Given the description of an element on the screen output the (x, y) to click on. 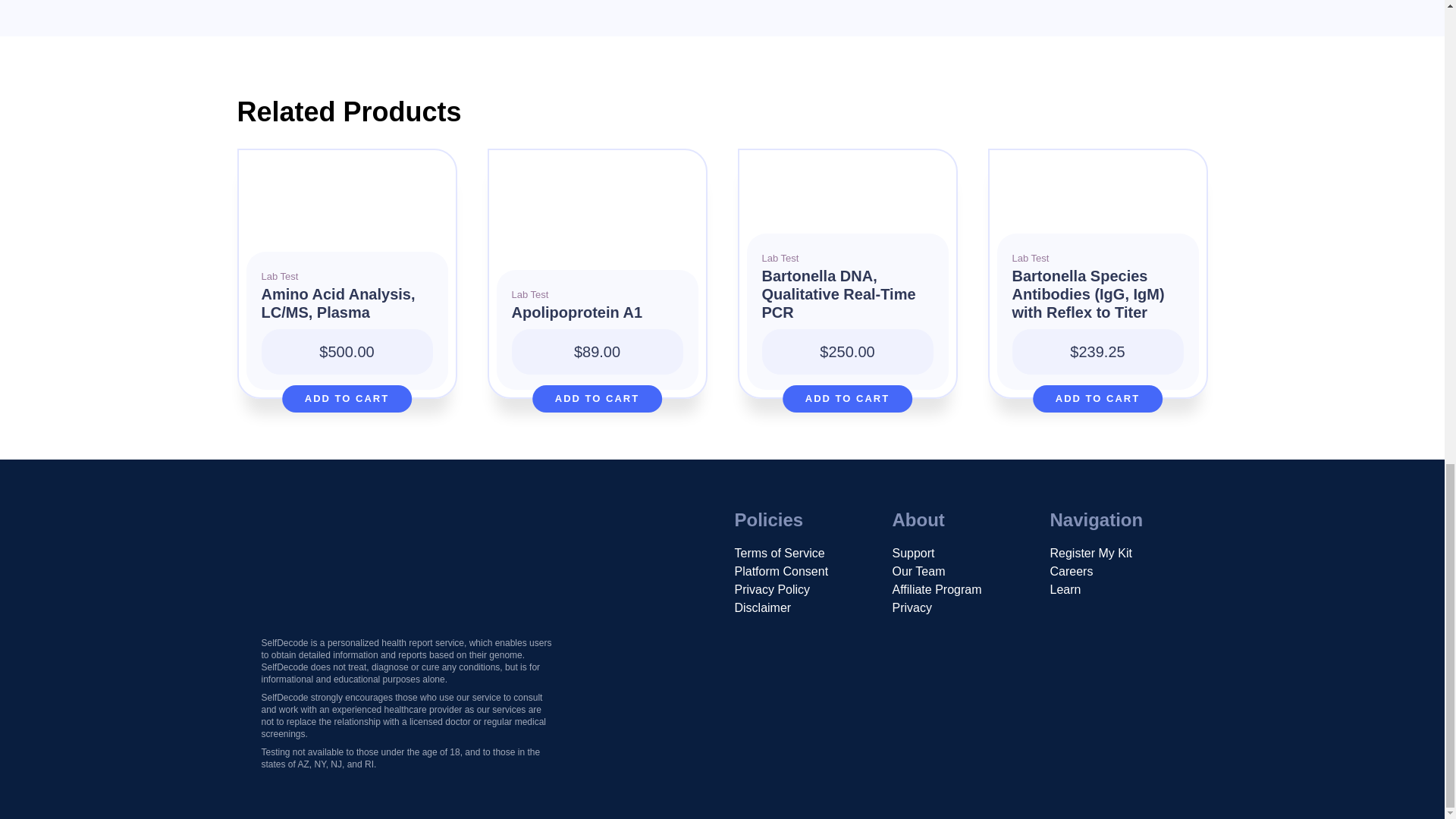
ADD TO CART (347, 398)
Platform Consent (780, 570)
Privacy Policy (771, 588)
Our Team (917, 570)
Support (912, 552)
Privacy (911, 606)
Terms of Service (778, 552)
Affiliate Program (936, 588)
ADD TO CART (1097, 398)
Apolipoprotein A1 (596, 320)
Disclaimer (761, 606)
ADD TO CART (847, 398)
ADD TO CART (597, 398)
Bartonella DNA, Qualitative Real-Time PCR (847, 301)
